Given the description of an element on the screen output the (x, y) to click on. 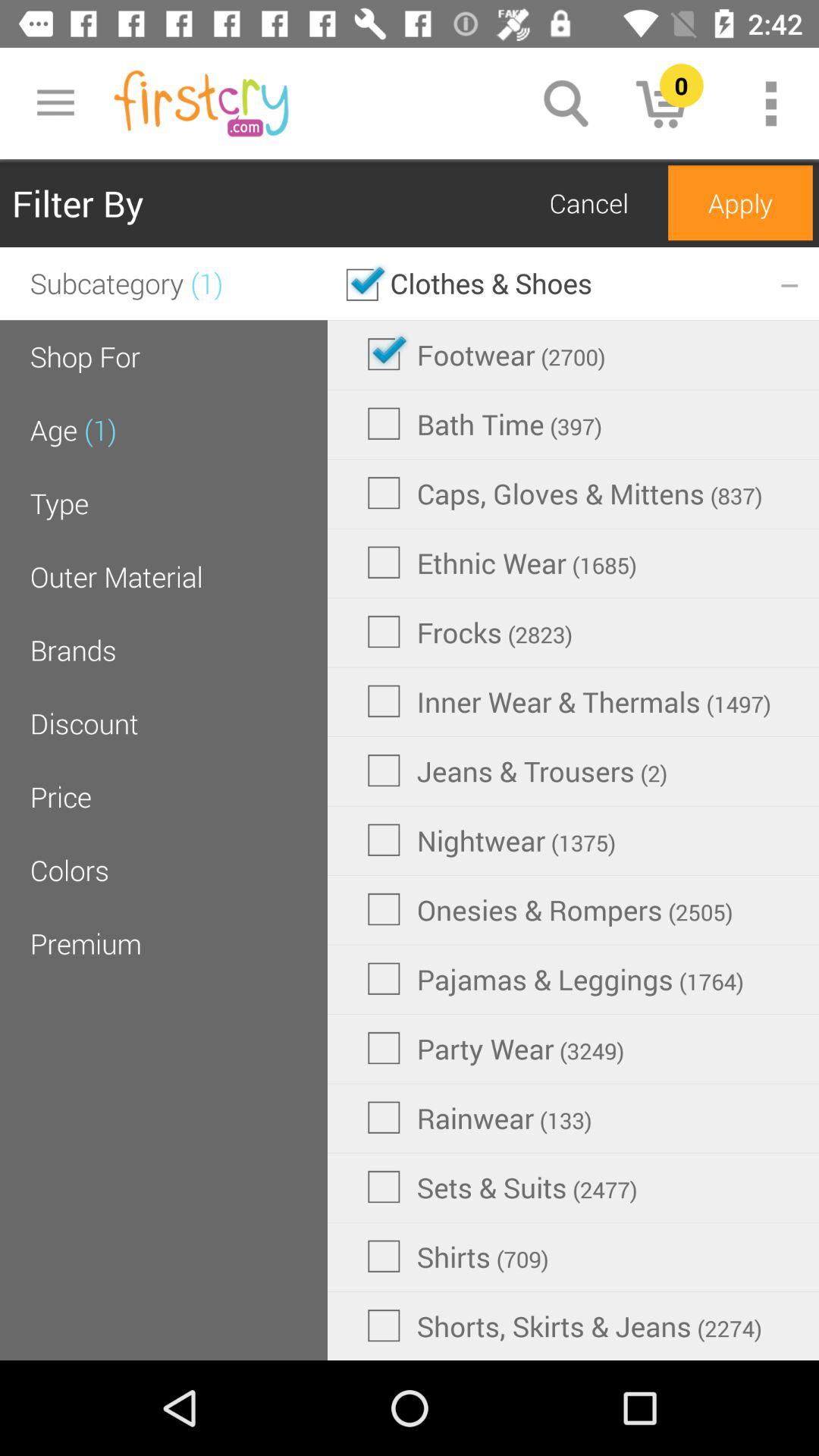
scroll until the bath time (397) (484, 423)
